Given the description of an element on the screen output the (x, y) to click on. 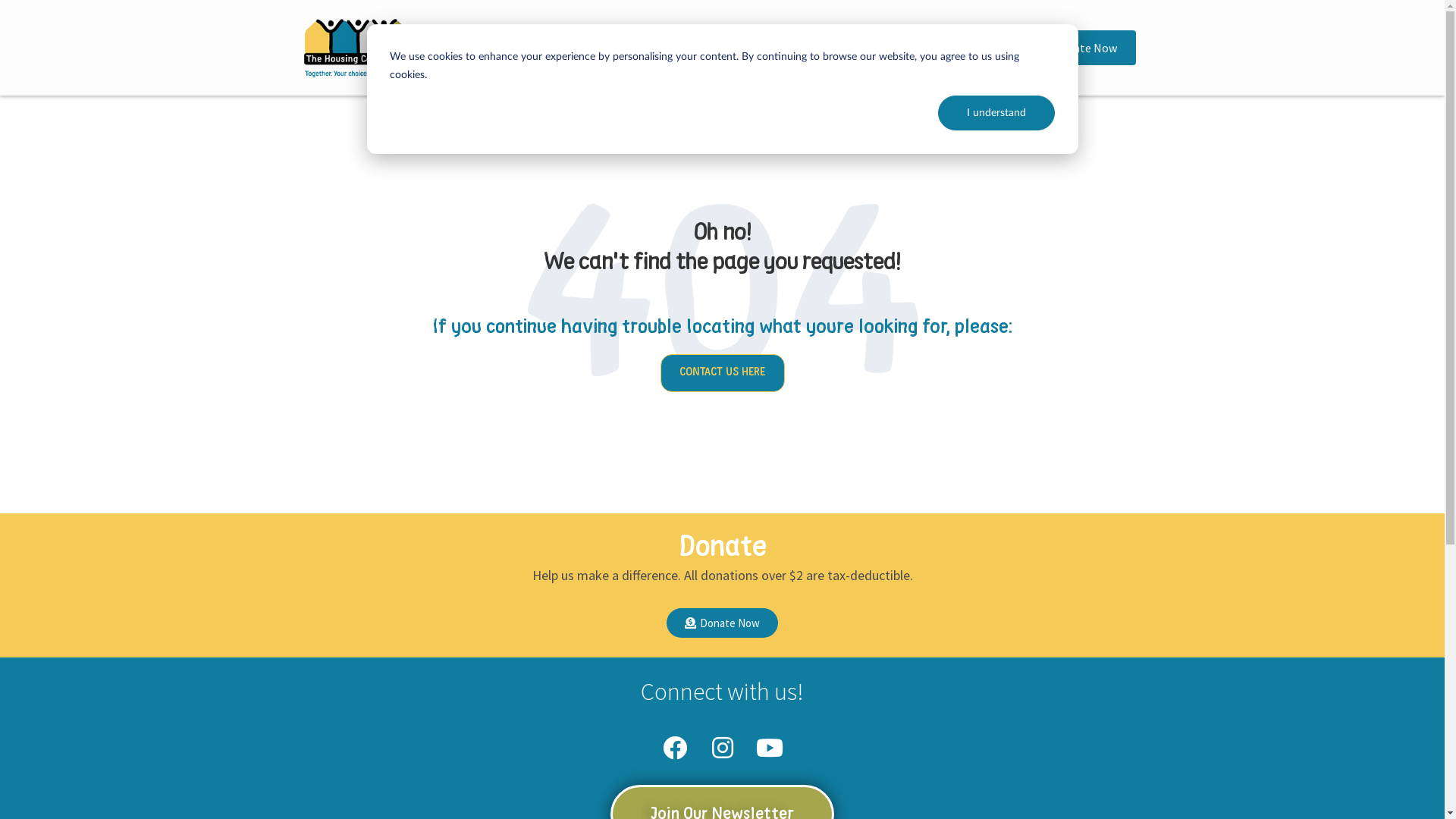
Resources Element type: text (855, 30)
I understand Element type: text (996, 112)
Careers Element type: text (936, 30)
Contact Us Element type: text (716, 64)
Disability Services Element type: text (533, 30)
Supporting Us Element type: text (749, 30)
Donate Now Element type: text (722, 622)
CONTACT US HERE Element type: text (721, 373)
Donate Now Element type: text (1074, 47)
About Us Element type: text (648, 30)
